Given the description of an element on the screen output the (x, y) to click on. 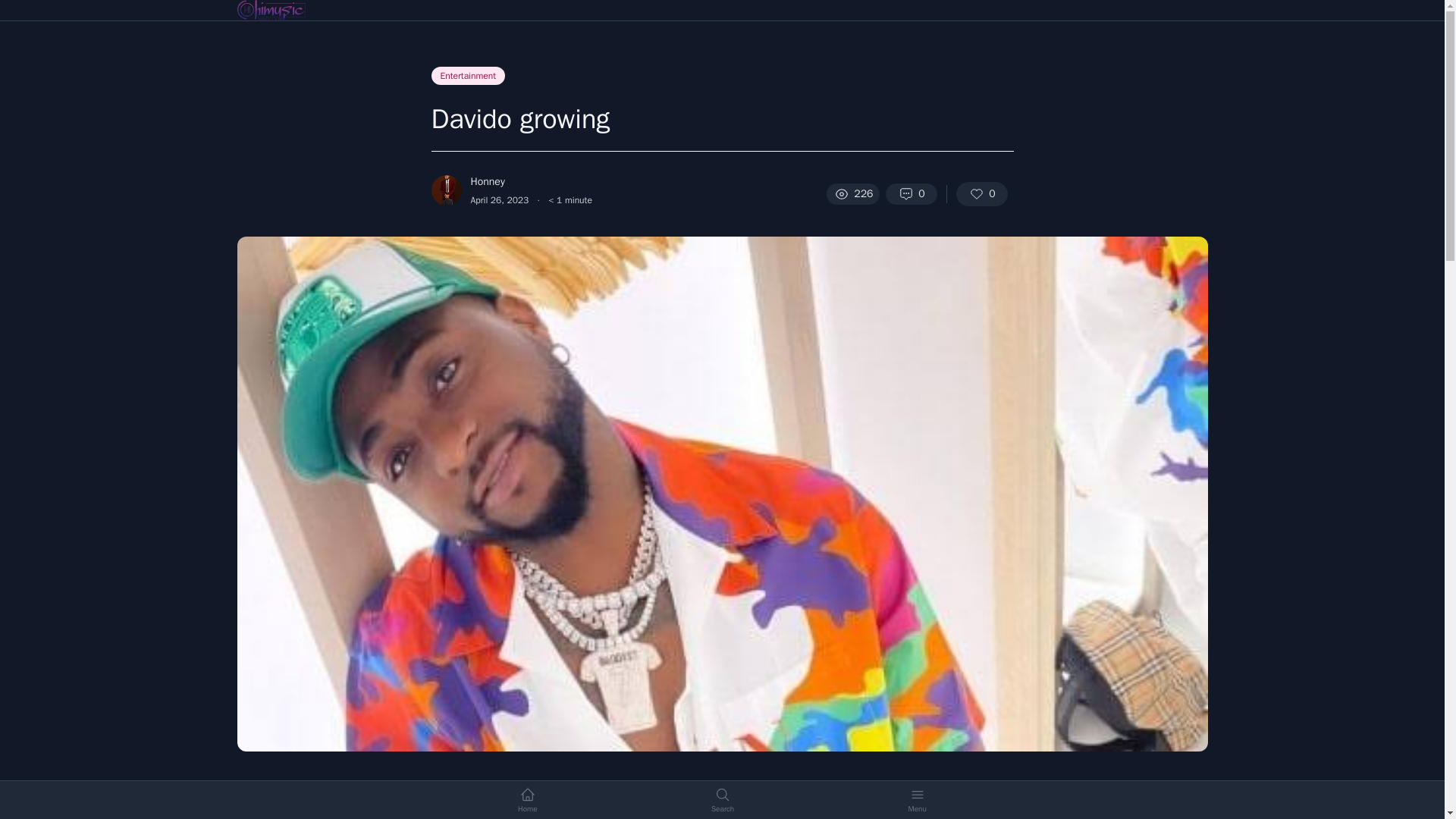
0 (981, 193)
0 (911, 193)
Views (853, 193)
Comments (911, 193)
Honney (495, 181)
Entertainment (467, 75)
